Given the description of an element on the screen output the (x, y) to click on. 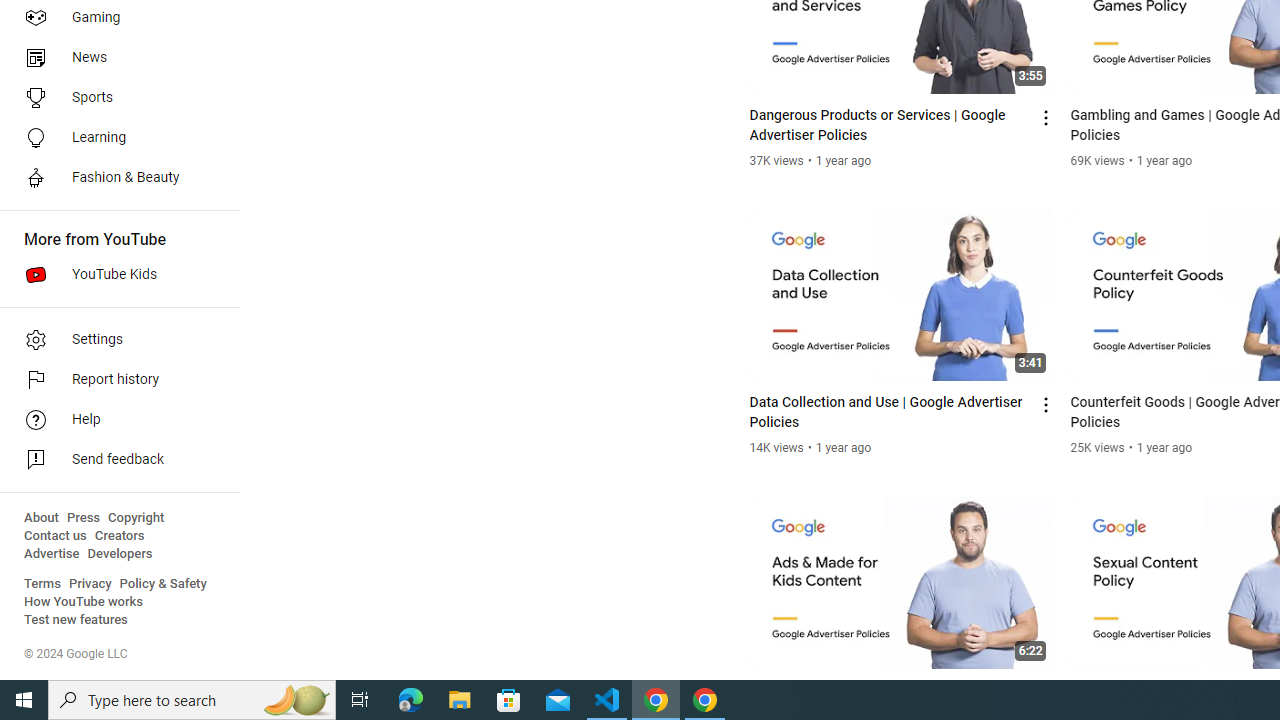
Advertise (51, 554)
News (113, 57)
Test new features (76, 620)
Policy & Safety (163, 584)
Fashion & Beauty (113, 177)
